Given the description of an element on the screen output the (x, y) to click on. 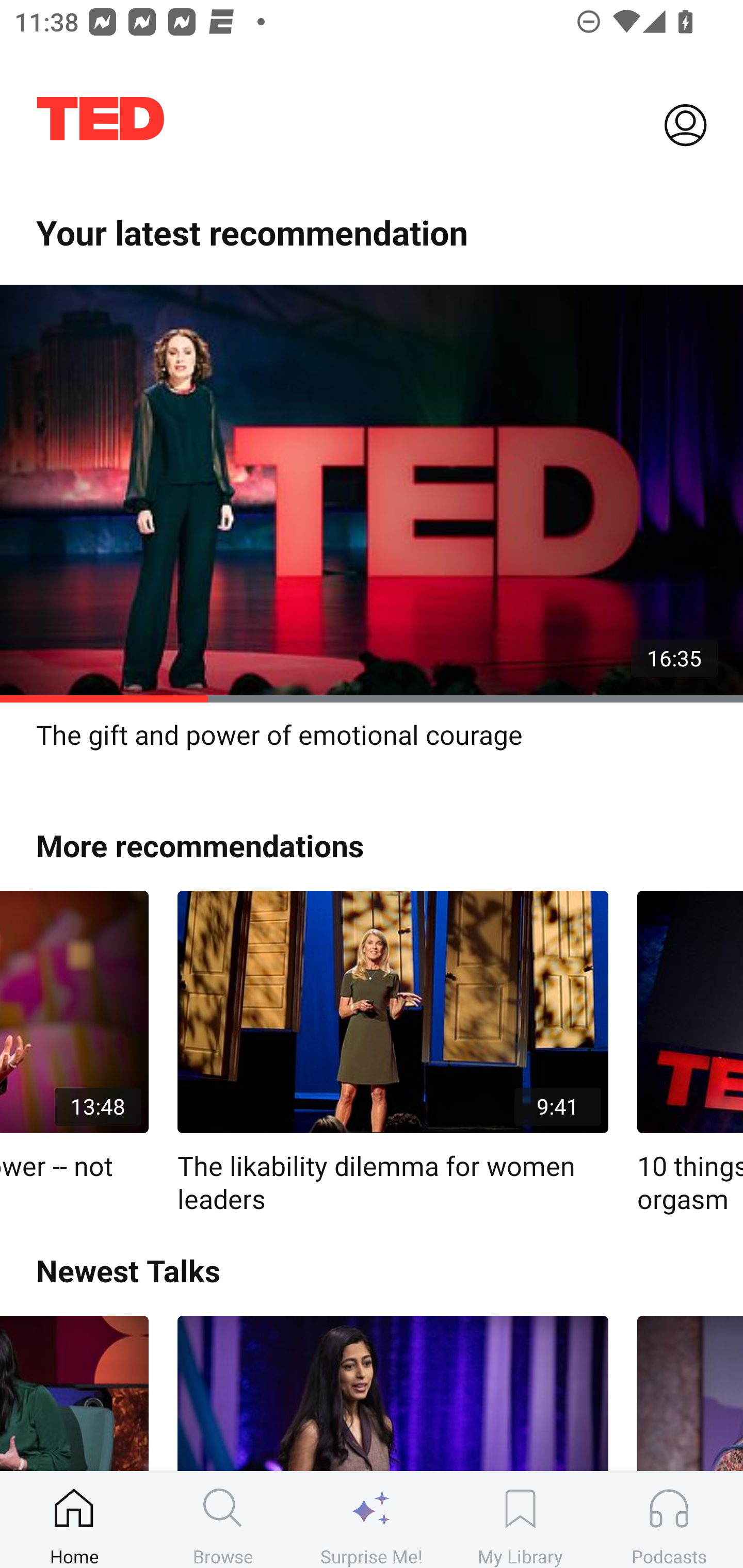
9:41 The likability dilemma for women leaders (392, 1053)
Home (74, 1520)
Browse (222, 1520)
Surprise Me! (371, 1520)
My Library (519, 1520)
Podcasts (668, 1520)
